Given the description of an element on the screen output the (x, y) to click on. 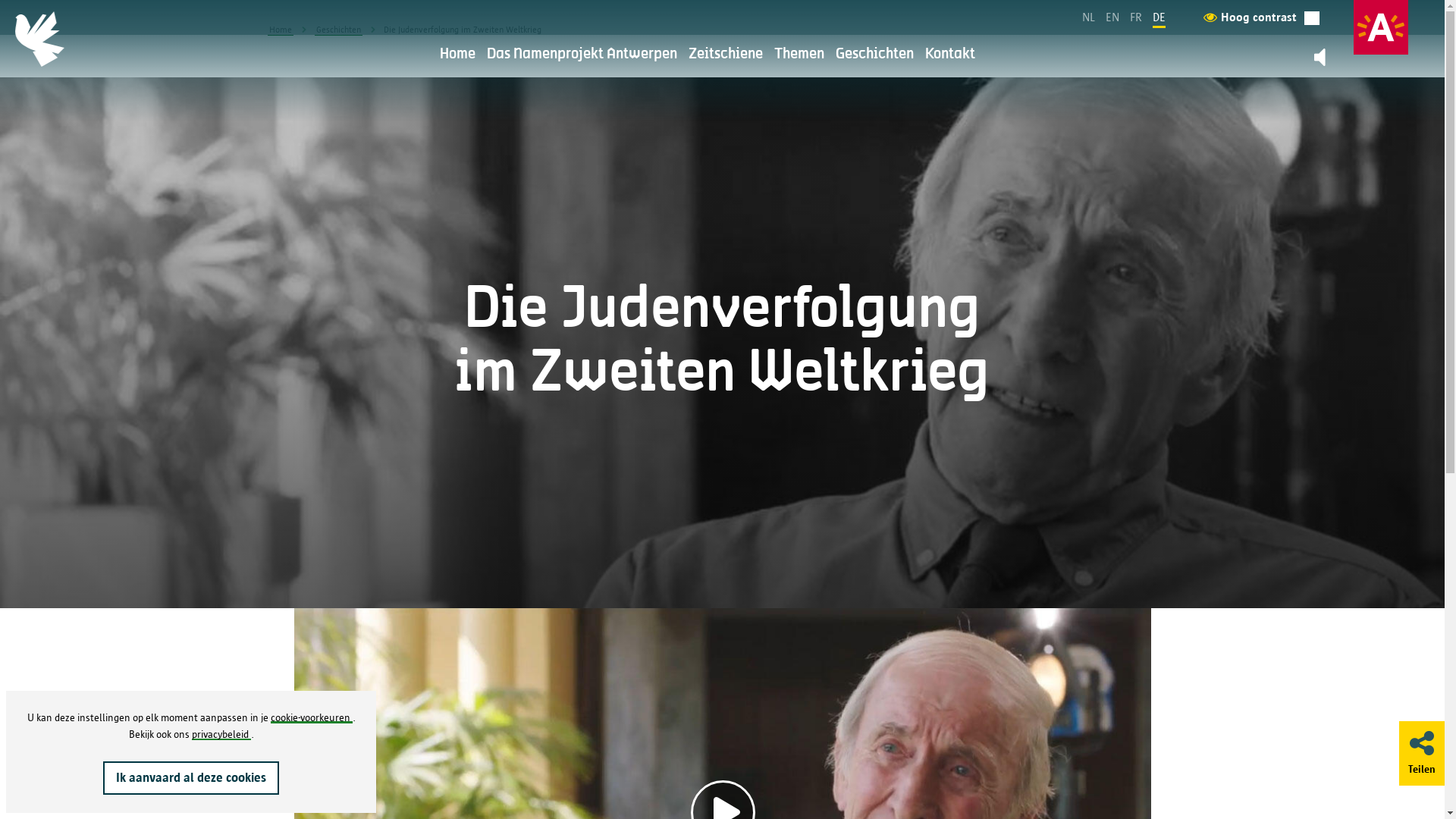
FR Element type: text (1135, 17)
Zeitschiene Element type: text (725, 54)
Geschichten Element type: text (337, 29)
Kontakt Element type: text (950, 54)
NL Element type: text (1088, 17)
Home Element type: text (457, 54)
privacybeleid Element type: text (220, 733)
Das Namenprojekt Antwerpen Element type: text (581, 54)
EN Element type: text (1112, 17)
Teilen Element type: text (1421, 752)
cookie-voorkeuren Element type: text (310, 716)
Home Element type: text (279, 29)
Ik aanvaard al deze cookies Element type: text (191, 777)
Geschichten Element type: text (874, 54)
Themen Element type: text (798, 54)
